Given the description of an element on the screen output the (x, y) to click on. 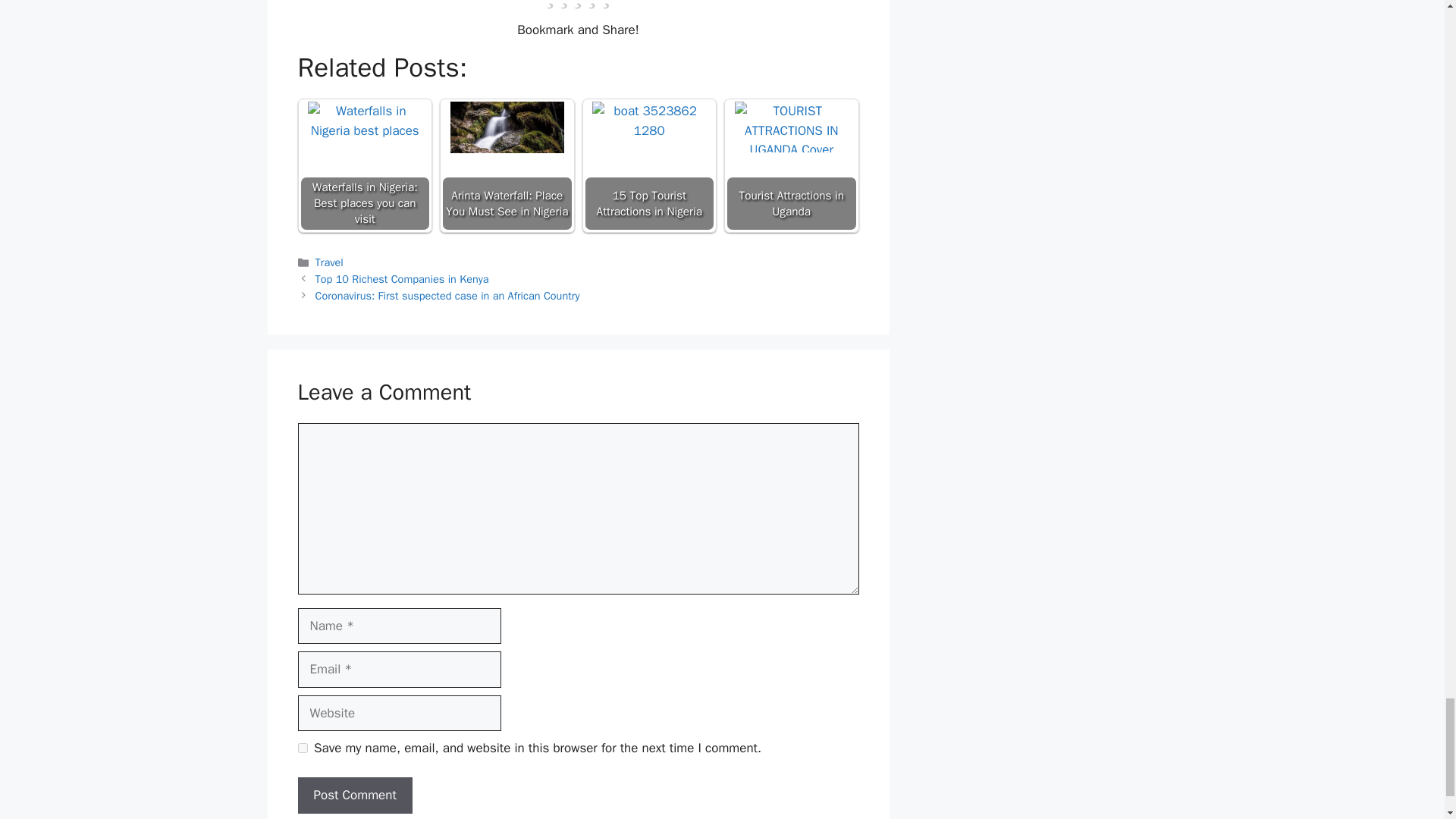
yes (302, 747)
Tourist Attractions in Uganda (791, 126)
Waterfalls in Nigeria: Best places you can visit (364, 120)
15 Top Tourist Attractions in Nigeria (649, 133)
Post Comment (354, 795)
Arinta Waterfall: Place You Must See in Nigeria (506, 126)
